Given the description of an element on the screen output the (x, y) to click on. 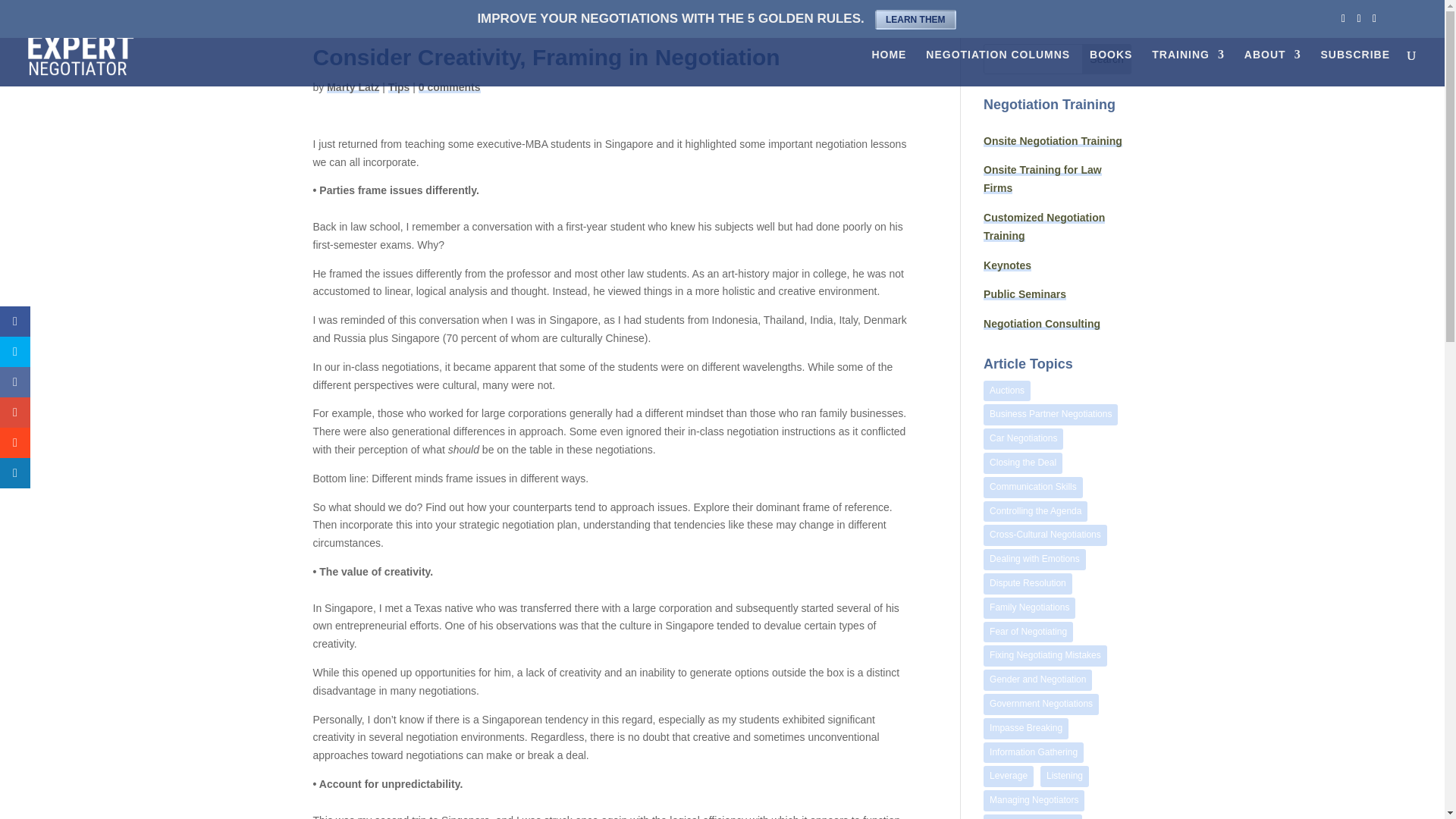
0 comments (449, 87)
ABOUT (1272, 67)
Marty Latz (352, 87)
Search (1106, 59)
NEGOTIATION COLUMNS (998, 67)
Tips (399, 87)
HOME (887, 67)
BOOKS (1110, 67)
Posts by Marty Latz (352, 87)
SUBSCRIBE (1355, 67)
